Given the description of an element on the screen output the (x, y) to click on. 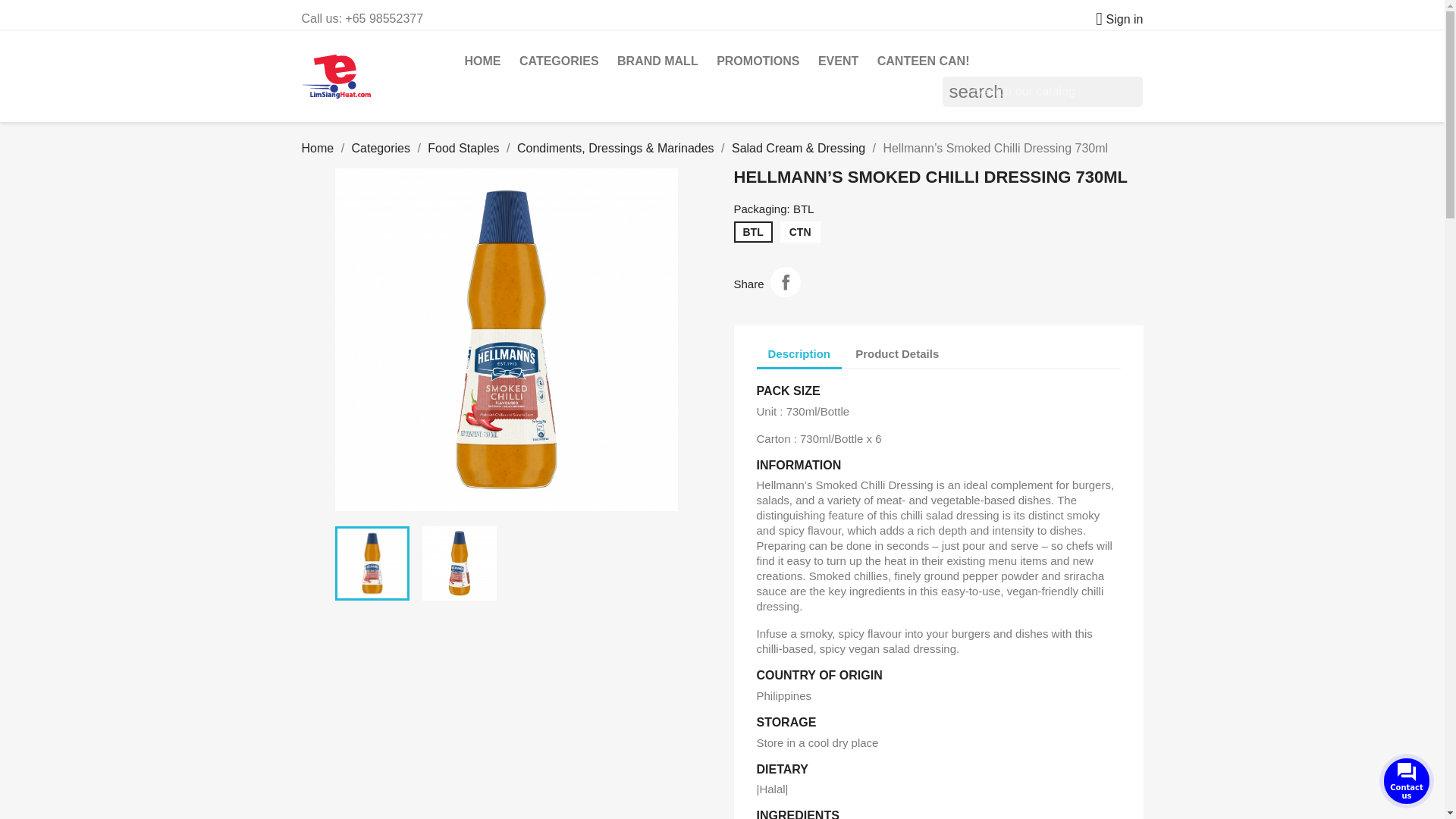
Log in to your customer account (1113, 19)
Share (785, 281)
CATEGORIES (559, 60)
HOME (482, 60)
